Given the description of an element on the screen output the (x, y) to click on. 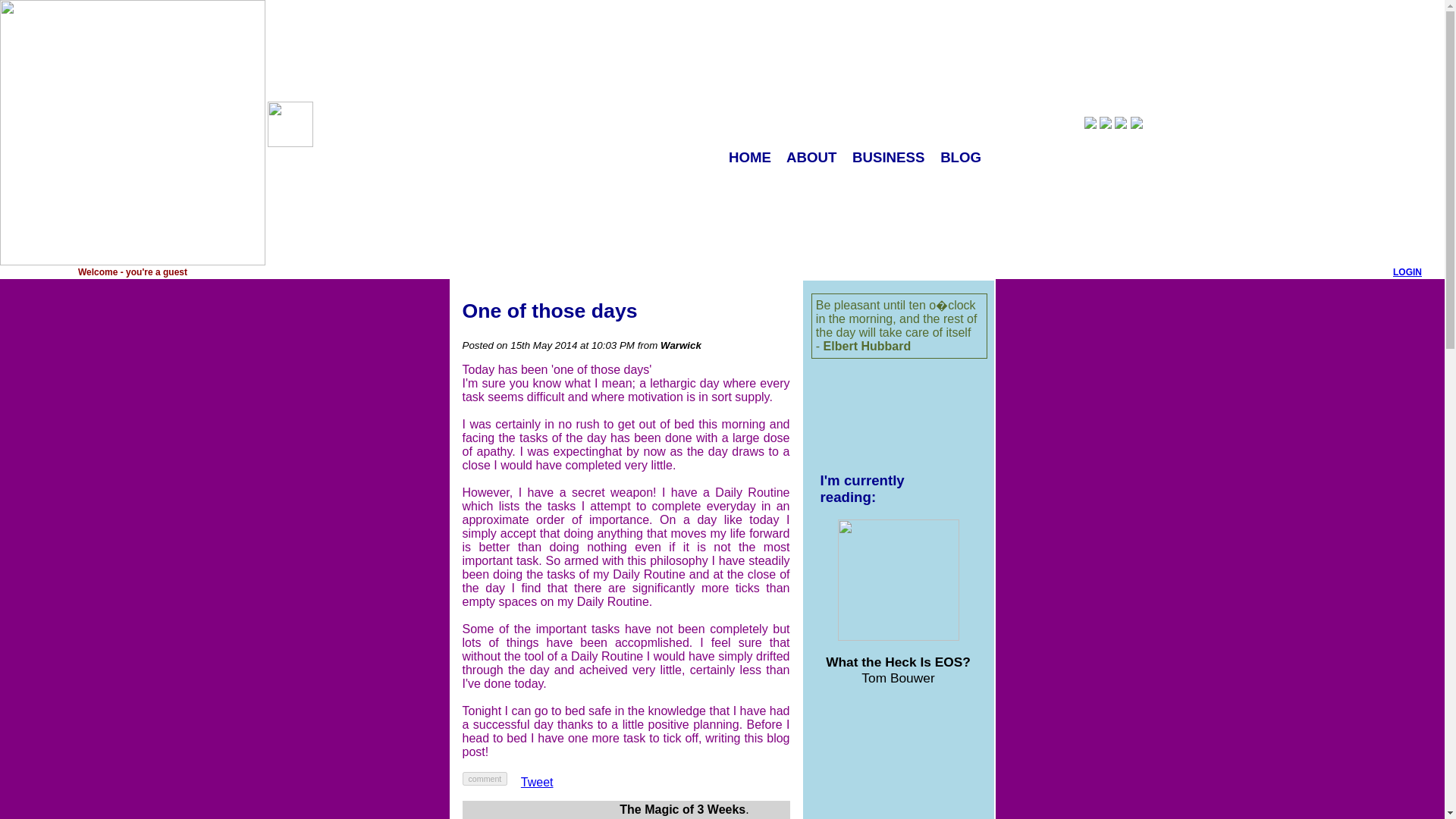
comment (485, 778)
BLOG (960, 157)
BUSINESS (887, 157)
LOGIN (1407, 271)
HOME (750, 157)
ABOUT (810, 157)
Tweet (537, 781)
